Given the description of an element on the screen output the (x, y) to click on. 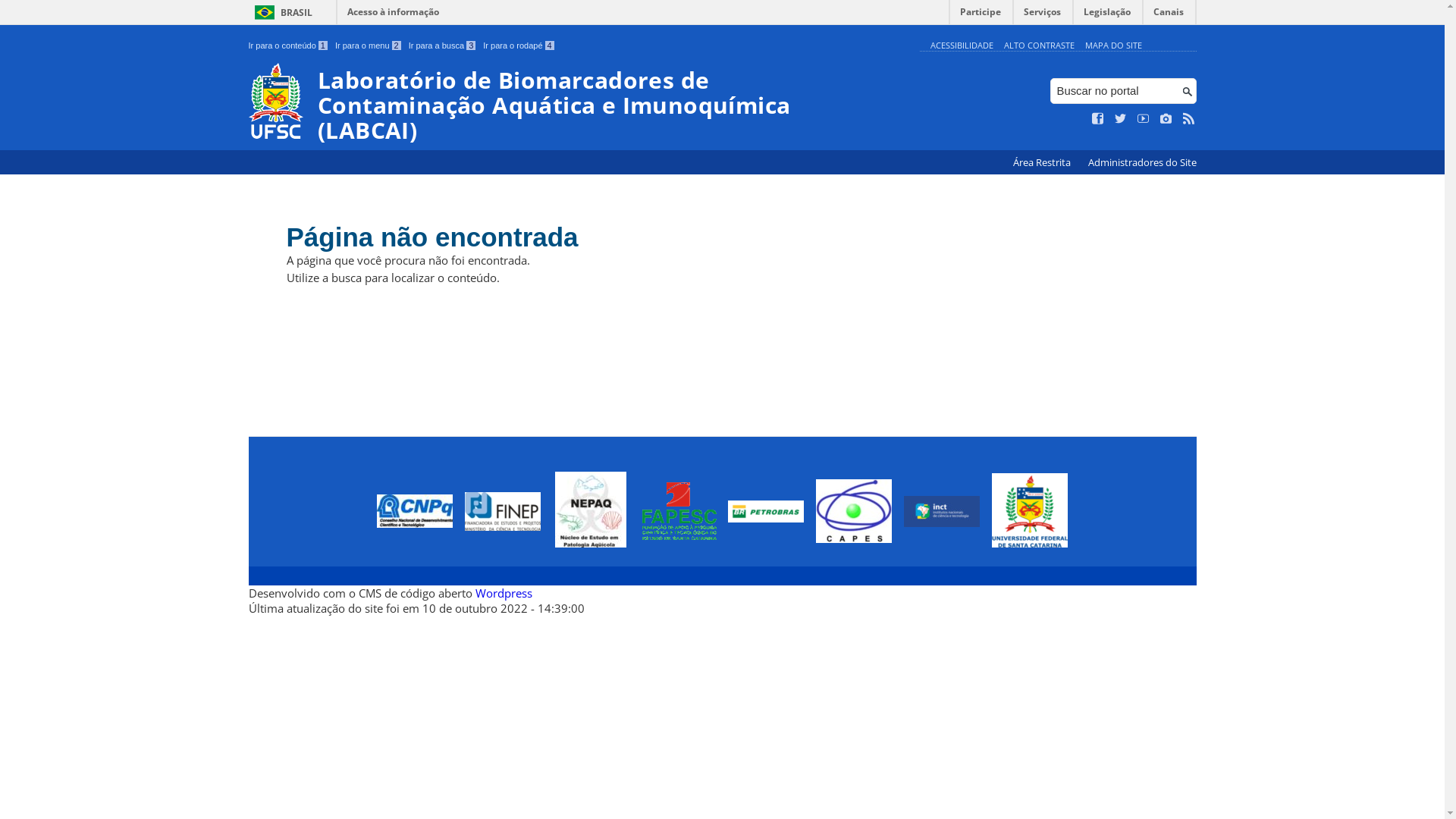
Wordpress Element type: text (502, 592)
Veja no Instagram Element type: hover (1166, 118)
Curta no Facebook Element type: hover (1098, 118)
ACESSIBILIDADE Element type: text (960, 44)
ALTO CONTRASTE Element type: text (1039, 44)
Ir para a busca 3 Element type: text (442, 45)
Siga no Twitter Element type: hover (1120, 118)
Administradores do Site Element type: text (1141, 162)
BRASIL Element type: text (280, 12)
MAPA DO SITE Element type: text (1112, 44)
Canais Element type: text (1169, 15)
Ir para o menu 2 Element type: text (368, 45)
Participe Element type: text (980, 15)
